Given the description of an element on the screen output the (x, y) to click on. 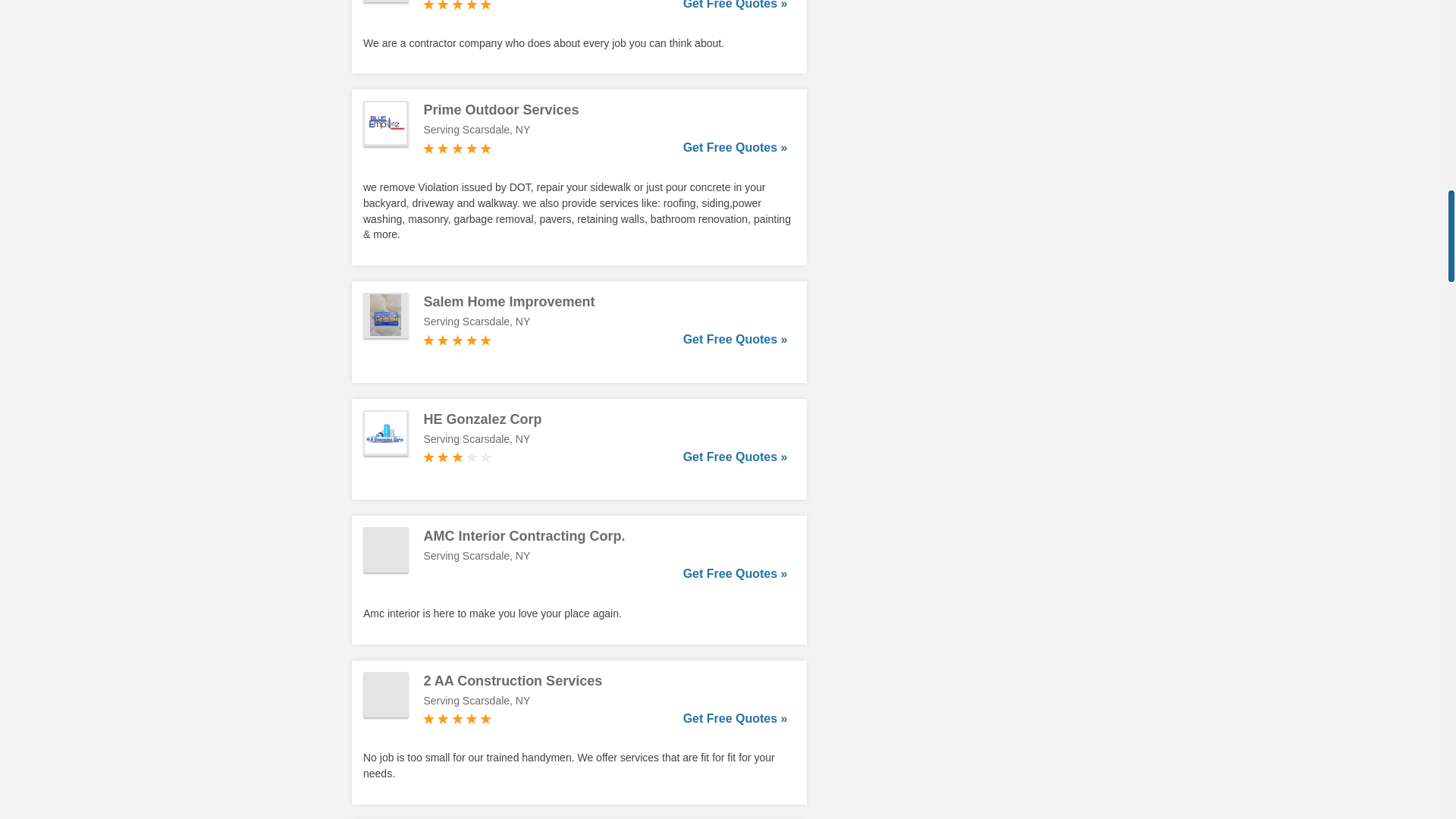
5 star rating (457, 5)
3 star rating (457, 457)
5 star rating (457, 718)
5 star rating (457, 148)
5 star rating (457, 340)
